Given the description of an element on the screen output the (x, y) to click on. 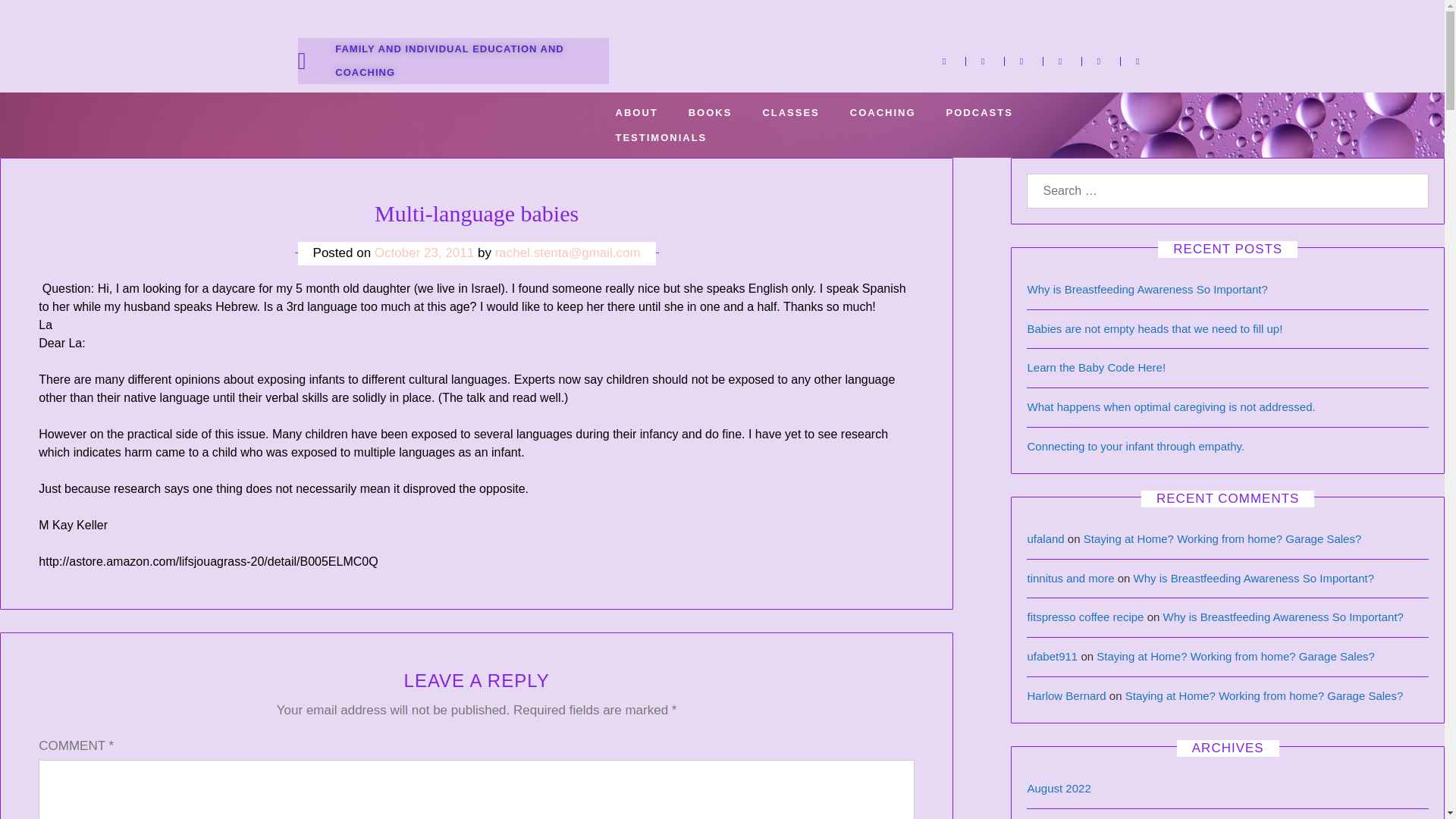
Staying at Home? Working from home? Garage Sales? (1235, 656)
August 2022 (1058, 788)
COACHING (882, 112)
tinnitus and more (1069, 577)
Connecting to your infant through empathy. (1135, 445)
Search (58, 16)
PODCASTS (979, 112)
Babies are not empty heads that we need to fill up! (1154, 328)
ufabet911 (1051, 656)
ABOUT (635, 112)
Why is Breastfeeding Awareness So Important? (1254, 577)
CLASSES (790, 112)
ufaland (1045, 538)
October 23, 2011 (424, 252)
TESTIMONIALS (660, 137)
